Given the description of an element on the screen output the (x, y) to click on. 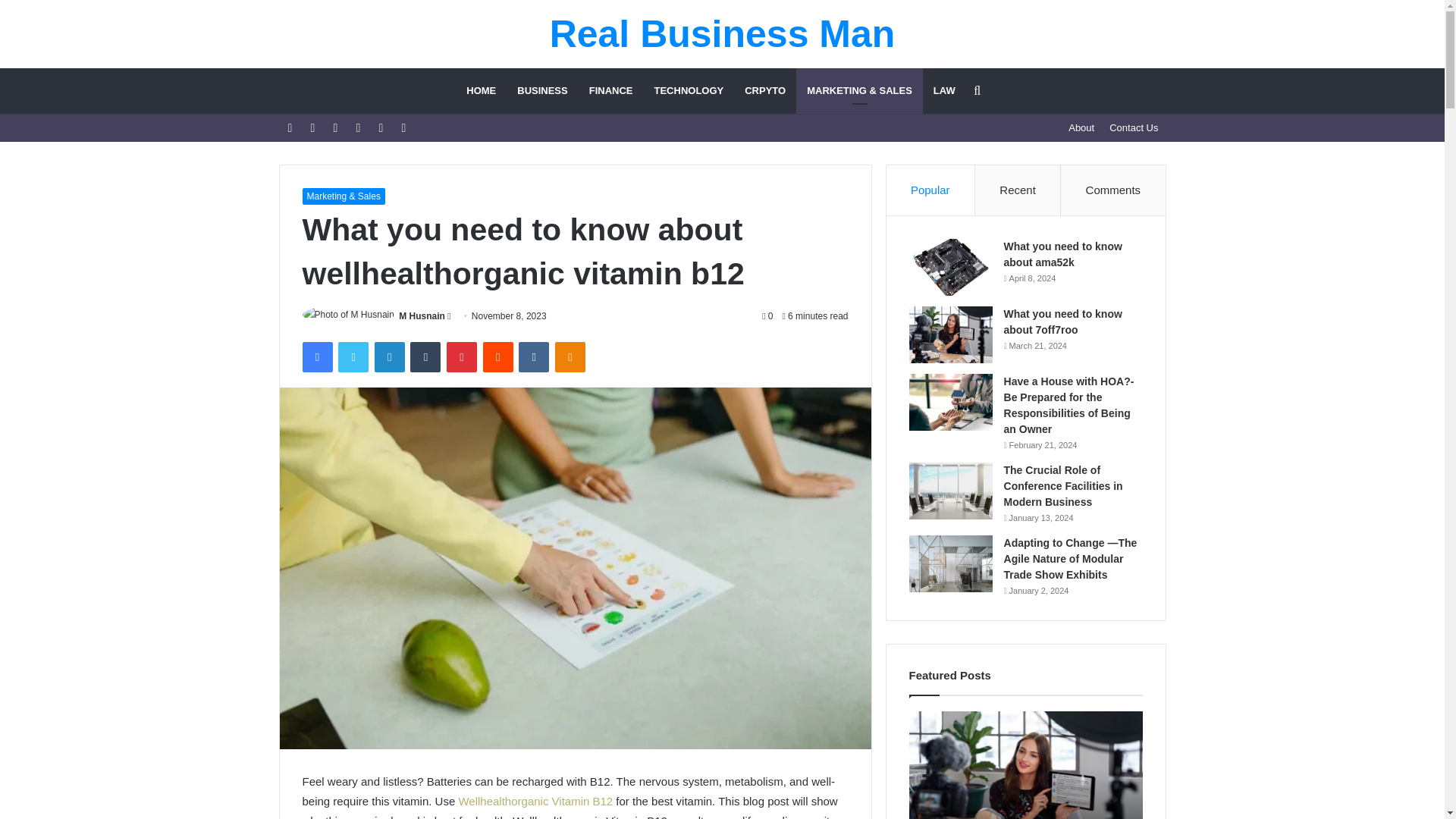
Reddit (498, 357)
CRPYTO (764, 90)
Twitter (352, 357)
VKontakte (533, 357)
Contact Us (1134, 127)
About (1081, 127)
Pinterest (461, 357)
Wellhealthorganic Vitamin B12 (534, 800)
Tumblr (425, 357)
Real Business Man (722, 34)
